Given the description of an element on the screen output the (x, y) to click on. 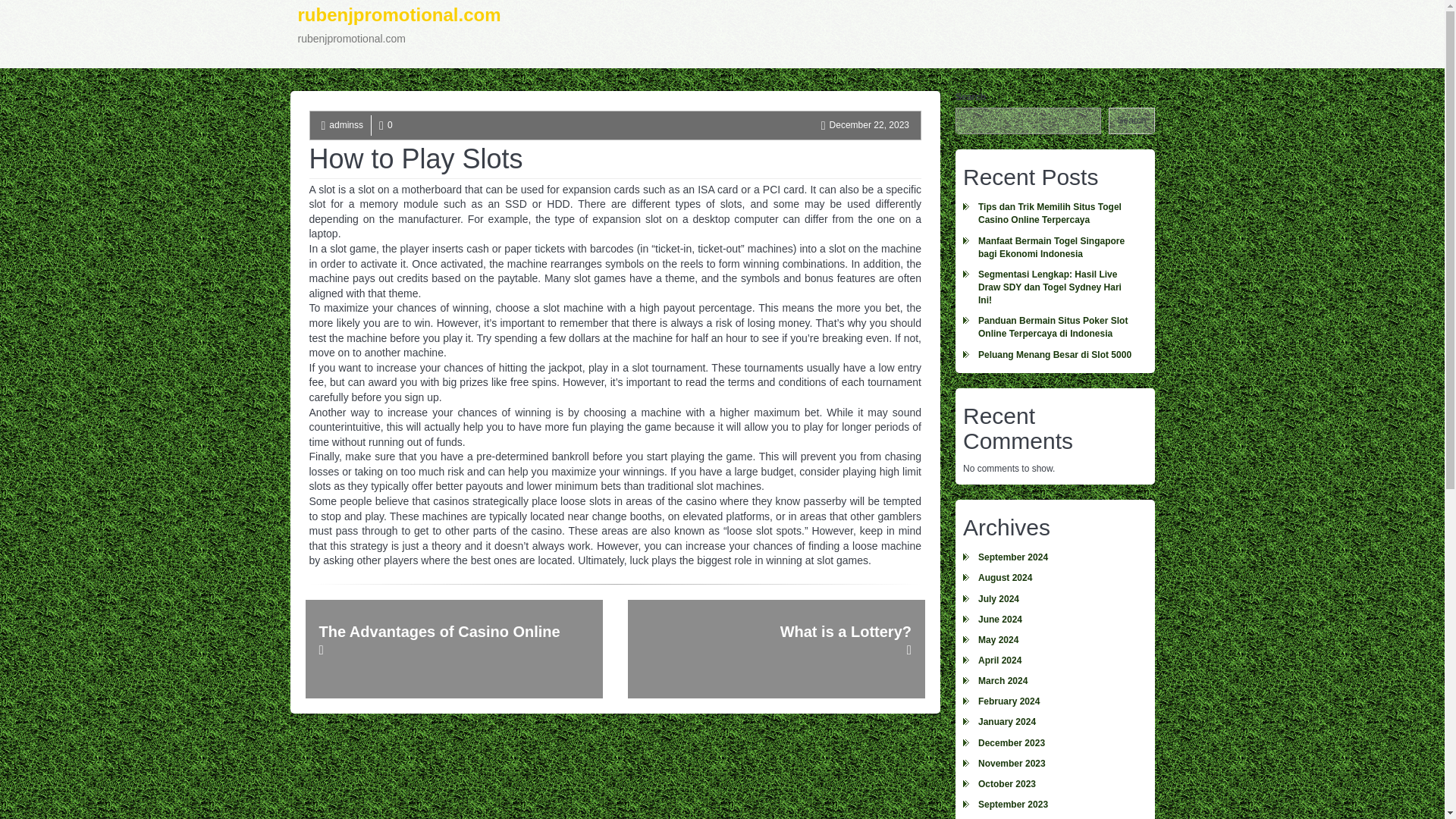
June 2024 (1054, 619)
September 2023 (1054, 804)
The Advantages of Casino Online (453, 648)
Peluang Menang Besar di Slot 5000 (1054, 354)
Tips dan Trik Memilih Situs Togel Casino Online Terpercaya (1054, 213)
January 2024 (1054, 721)
adminss (345, 124)
What is a Lottery? (775, 648)
May 2024 (1054, 639)
